Given the description of an element on the screen output the (x, y) to click on. 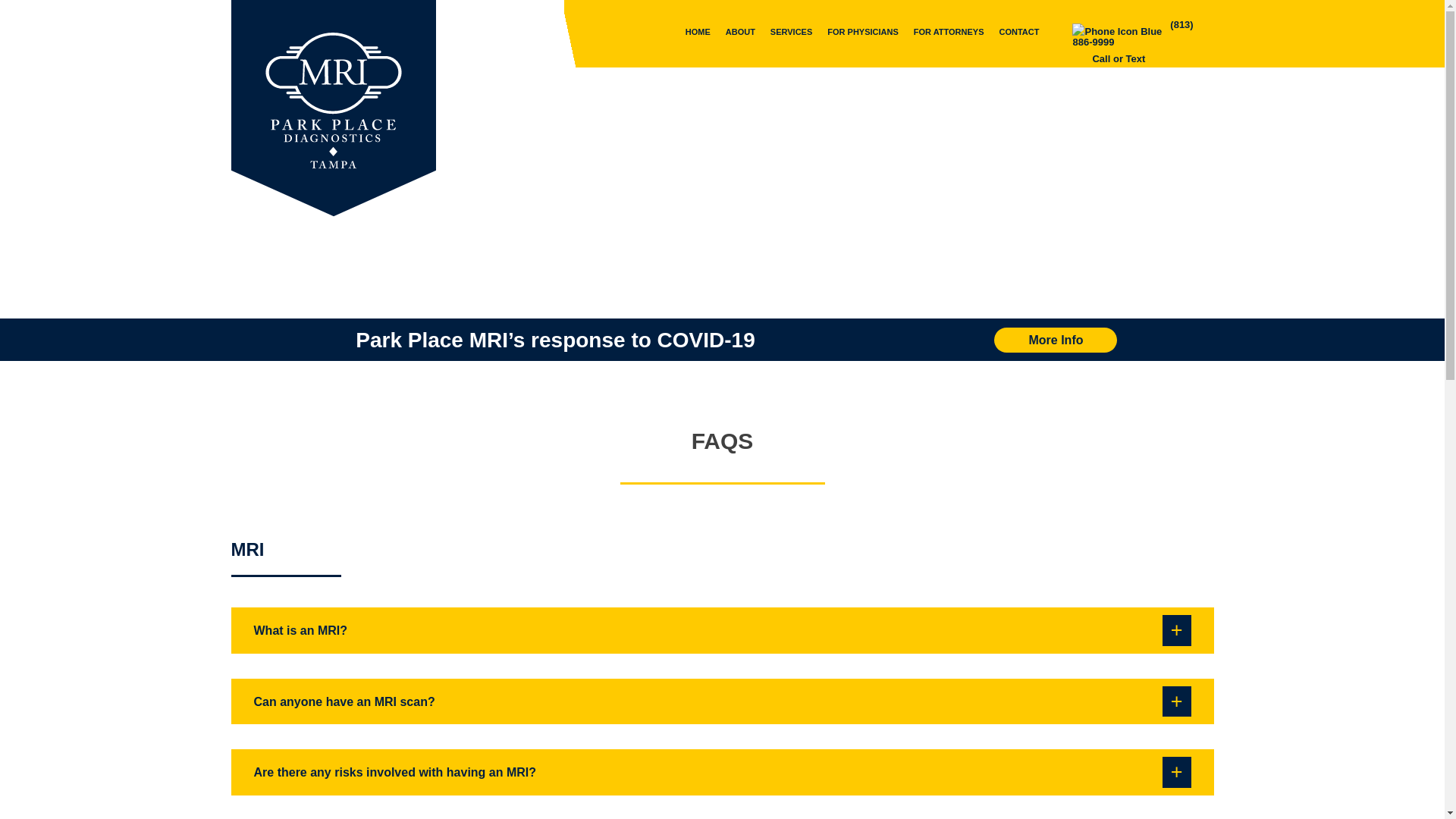
FOR PHYSICIANS (862, 31)
ABOUT (739, 31)
FOR ATTORNEYS (948, 31)
Park Place MRI in Tampa (298, 230)
CONTACT (1018, 31)
SERVICES (790, 31)
HOME (697, 31)
